Given the description of an element on the screen output the (x, y) to click on. 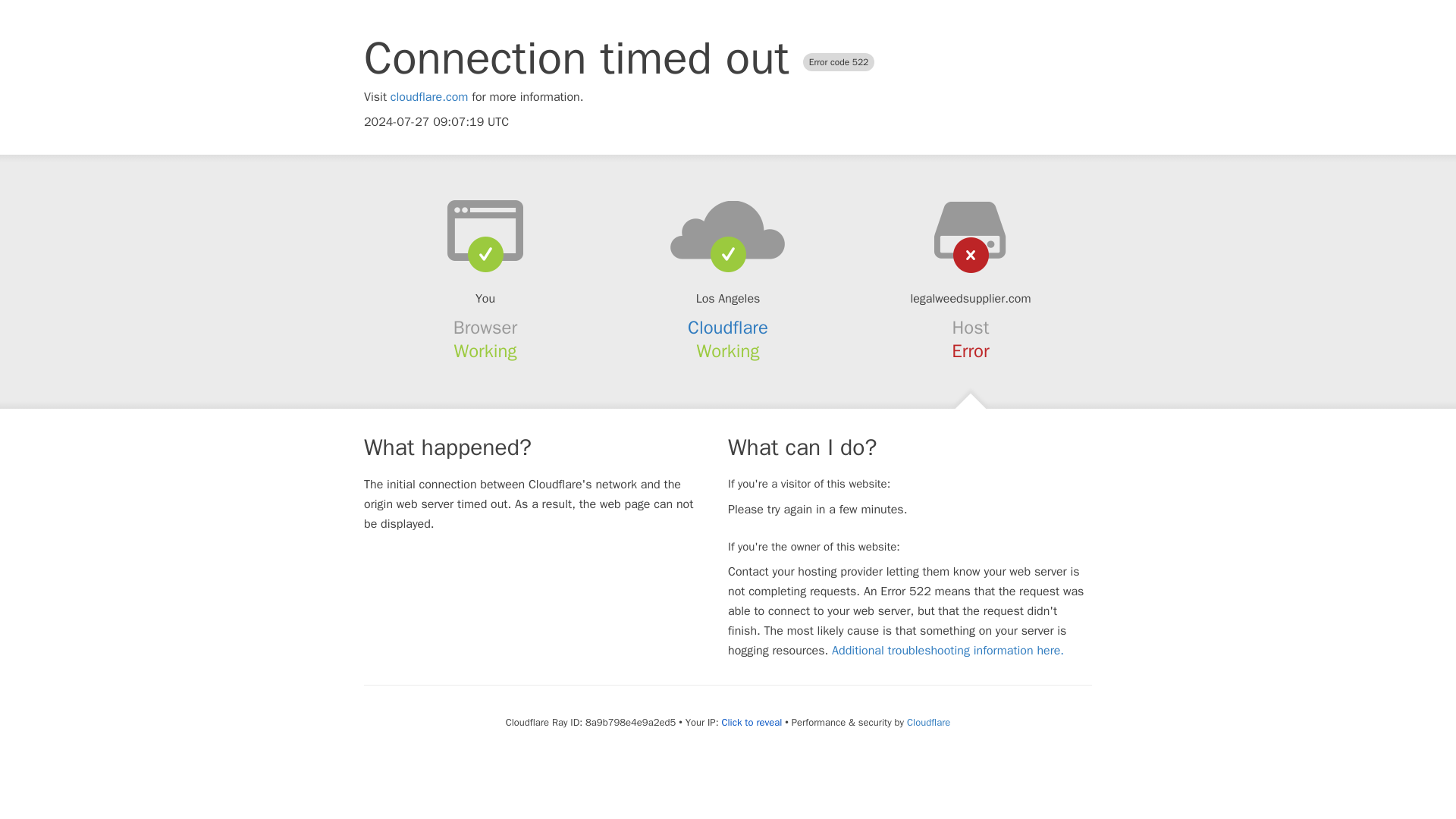
Cloudflare (928, 721)
cloudflare.com (429, 96)
Cloudflare (727, 327)
Additional troubleshooting information here. (947, 650)
Click to reveal (750, 722)
